Given the description of an element on the screen output the (x, y) to click on. 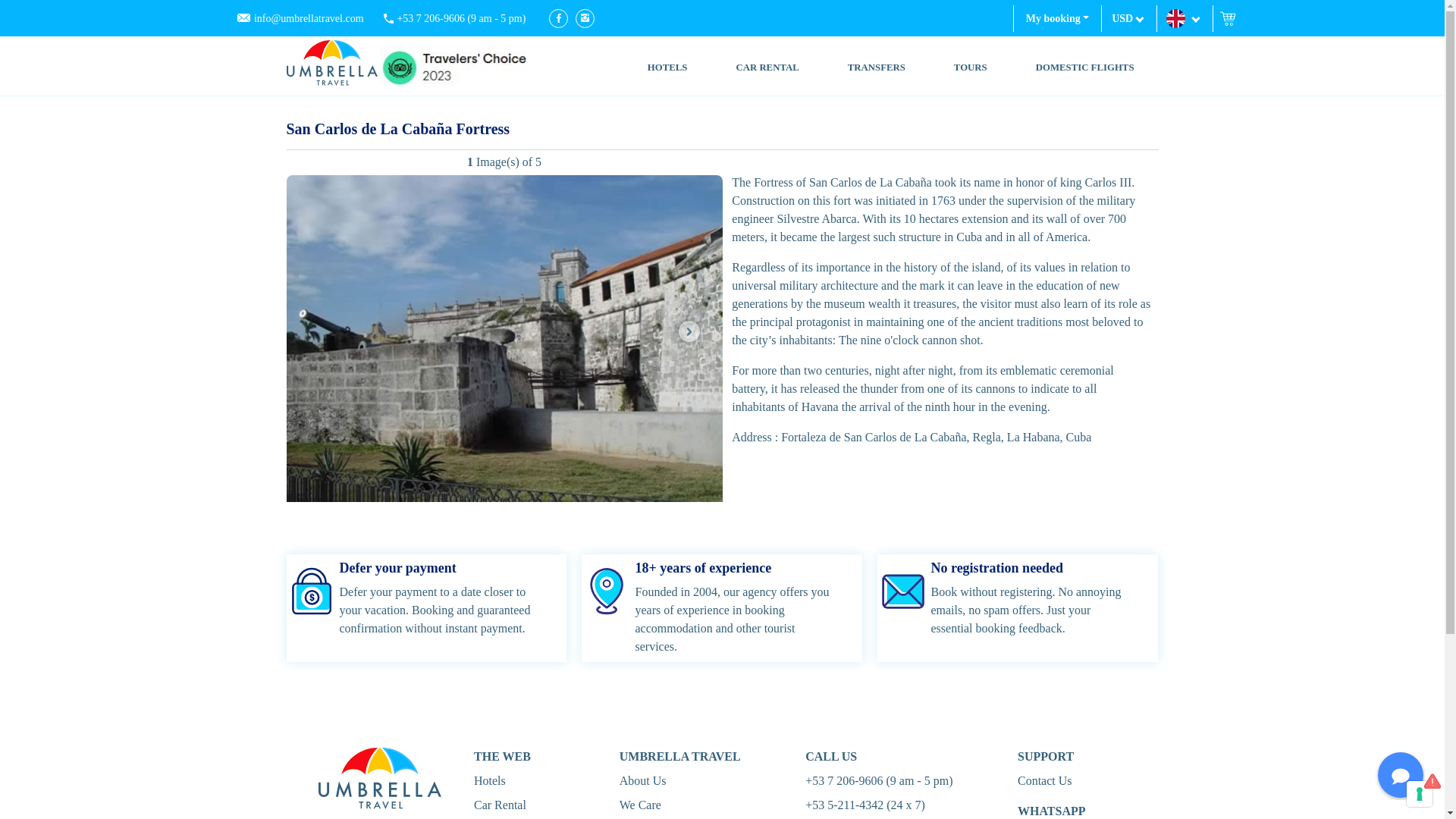
USD (1129, 17)
HOTELS (667, 67)
About Us (643, 780)
Webchat Widget (1390, 766)
Hotels (489, 780)
CAR RENTAL (766, 67)
DOMESTIC FLIGHTS (1085, 67)
Car Rental (499, 804)
TRANSFERS (876, 67)
My booking (1057, 18)
TOURS (970, 67)
